Given the description of an element on the screen output the (x, y) to click on. 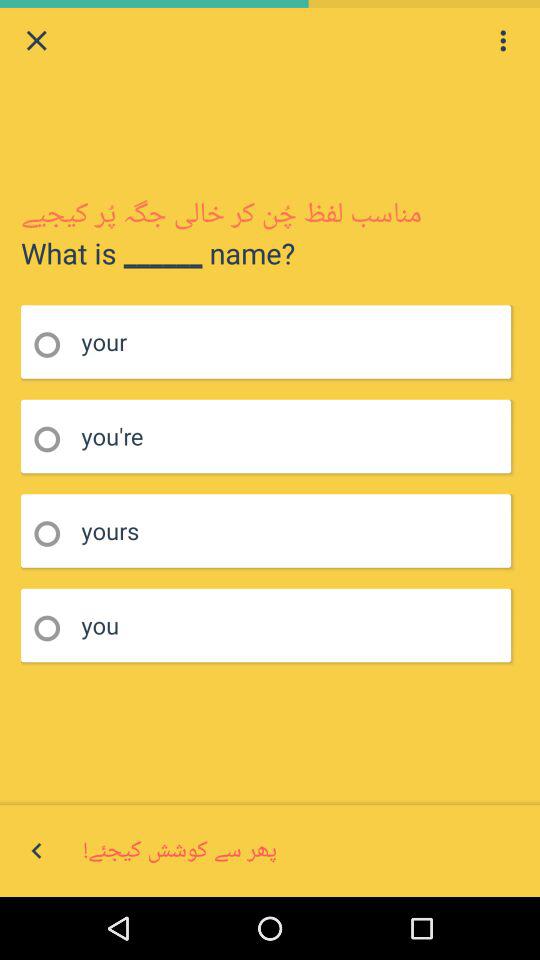
close the page (36, 40)
